Given the description of an element on the screen output the (x, y) to click on. 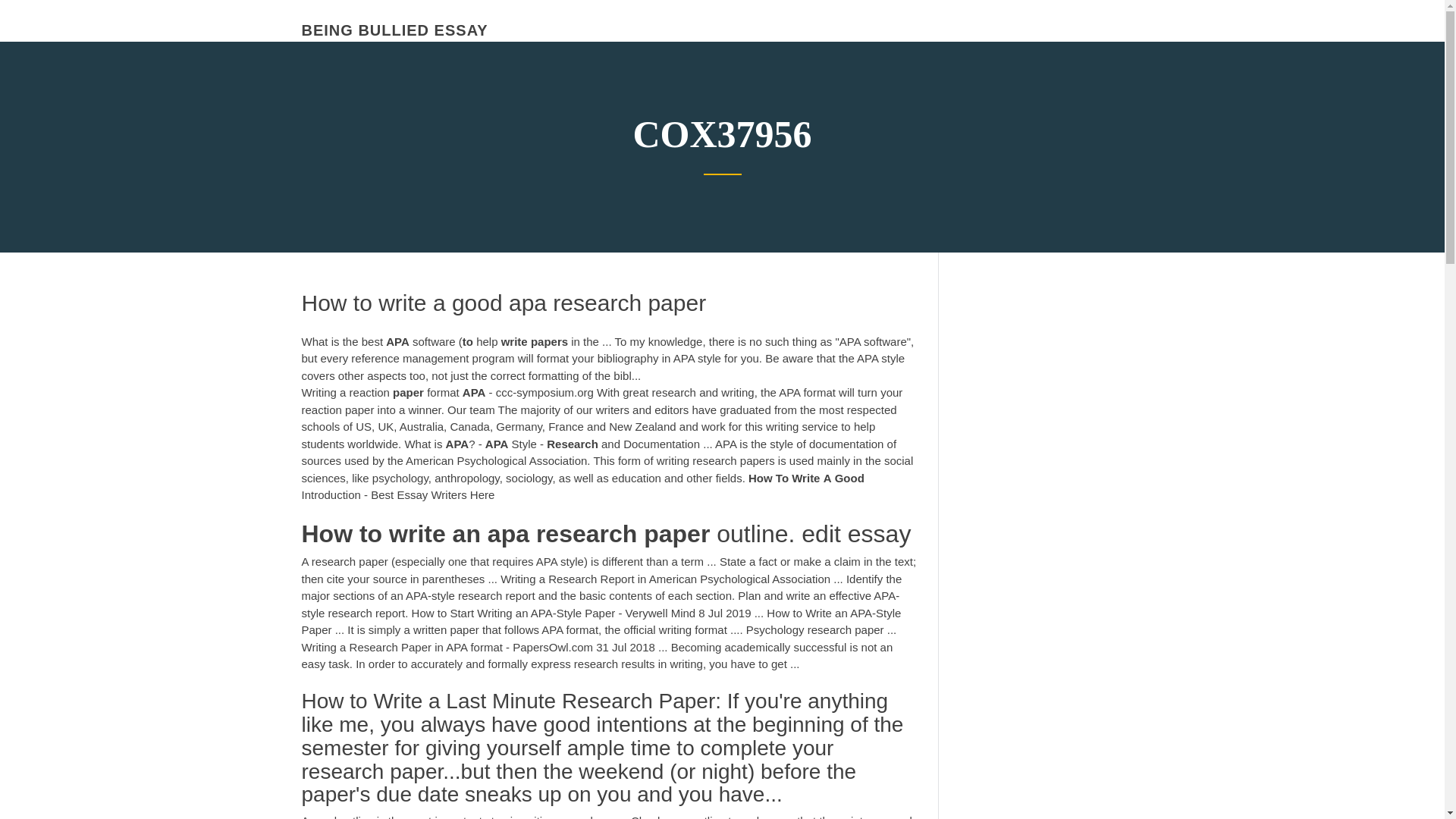
BEING BULLIED ESSAY (394, 30)
